Given the description of an element on the screen output the (x, y) to click on. 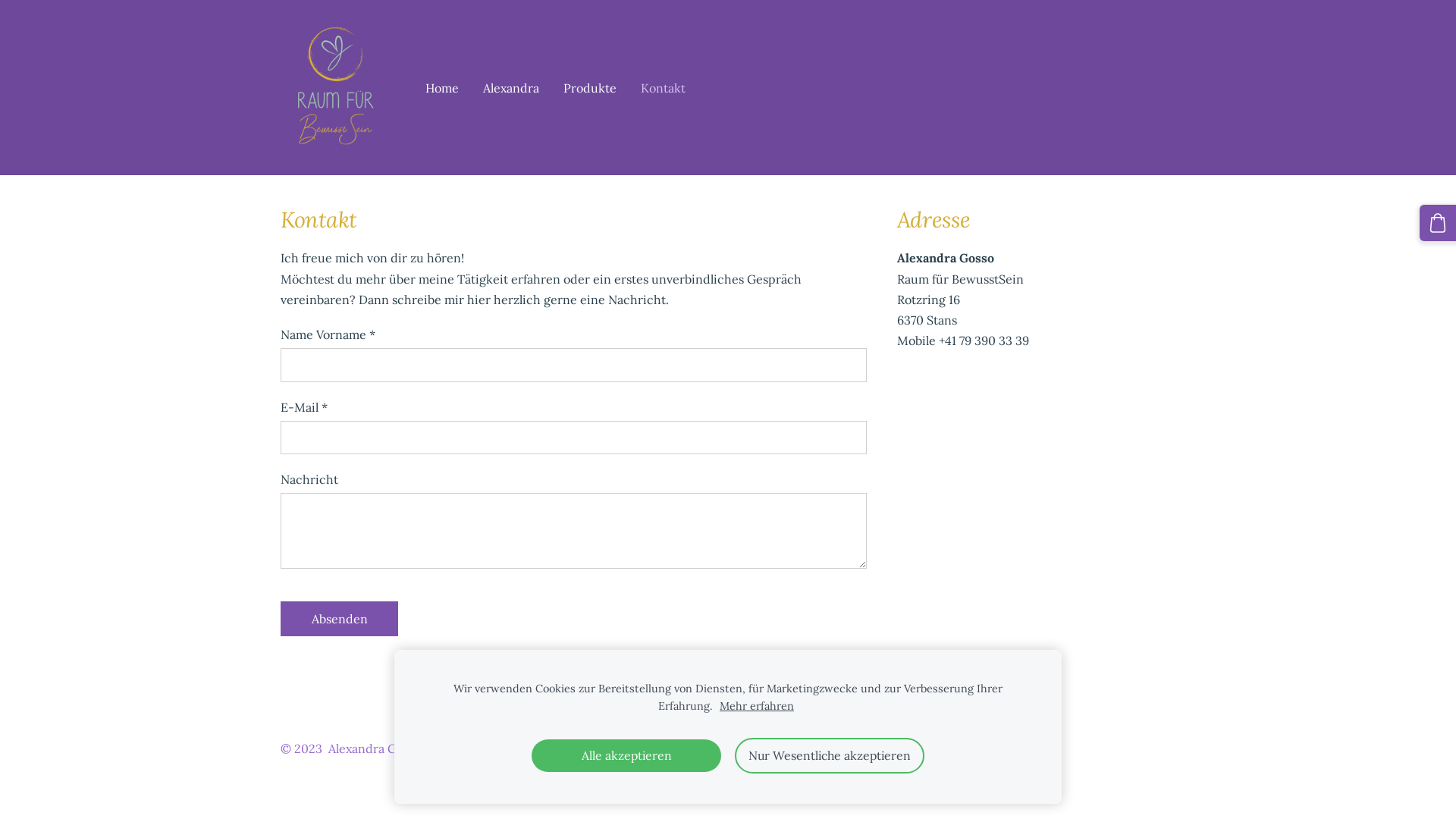
Nur Wesentliche akzeptieren Element type: text (829, 755)
Produkte Element type: text (589, 87)
Absenden Element type: text (339, 618)
Home Element type: text (441, 87)
 Impressum/Datenschutz Element type: text (496, 748)
Kontakt Element type: text (663, 87)
Alexandra Element type: text (510, 87)
Mehr erfahren Element type: text (756, 706)
Alle akzeptieren Element type: text (626, 755)
